Given the description of an element on the screen output the (x, y) to click on. 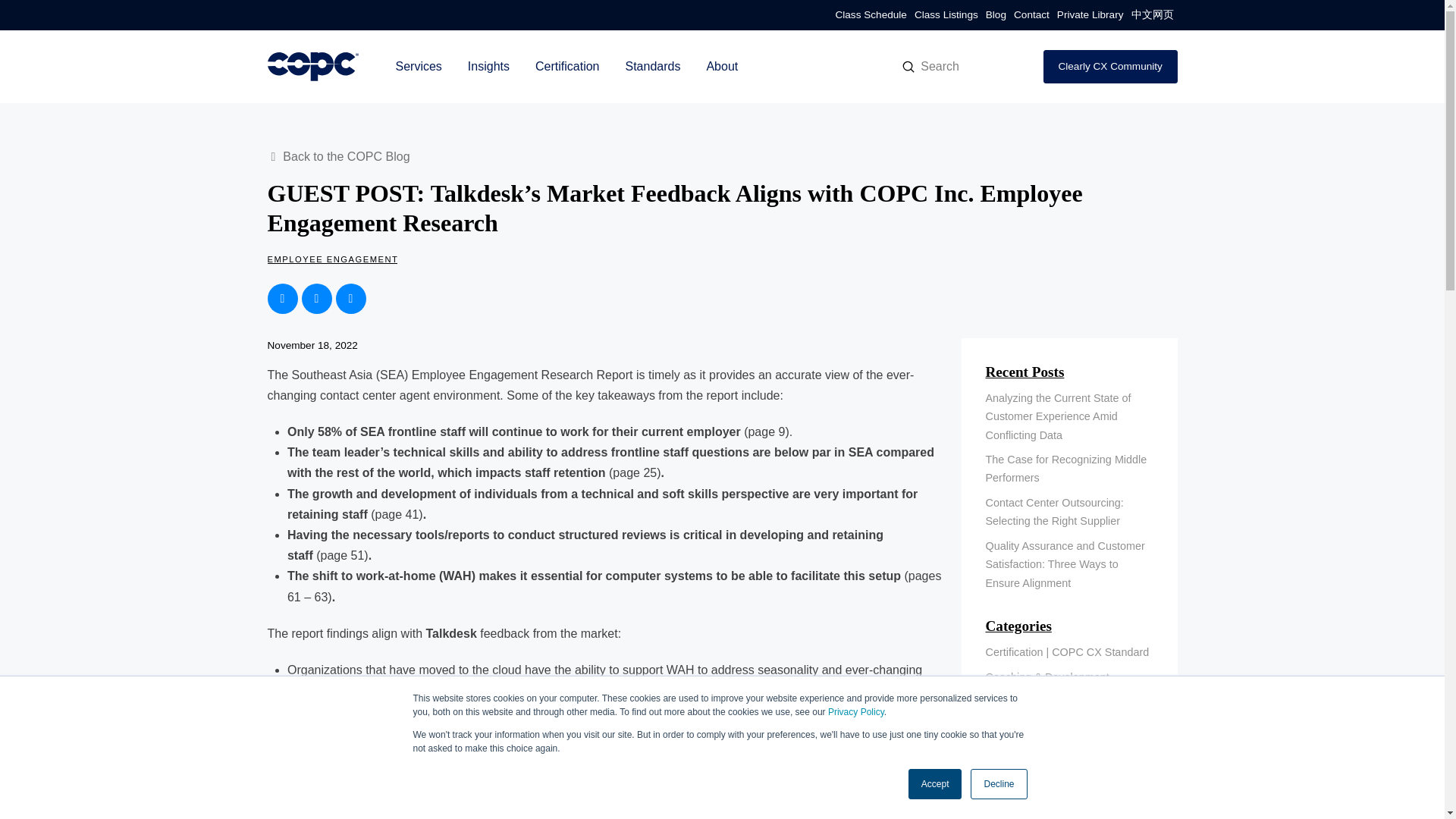
Insights (488, 66)
Accept (935, 784)
Popup CTA (1277, 774)
Privacy Policy (855, 711)
Class Listings (946, 14)
Back to the COPC Blog (339, 157)
Services (417, 66)
Certification (566, 66)
Standards (652, 66)
Submit (908, 66)
Class Schedule (870, 14)
Contact (1031, 14)
Blog (995, 14)
Private Library (1089, 14)
Decline (998, 784)
